Given the description of an element on the screen output the (x, y) to click on. 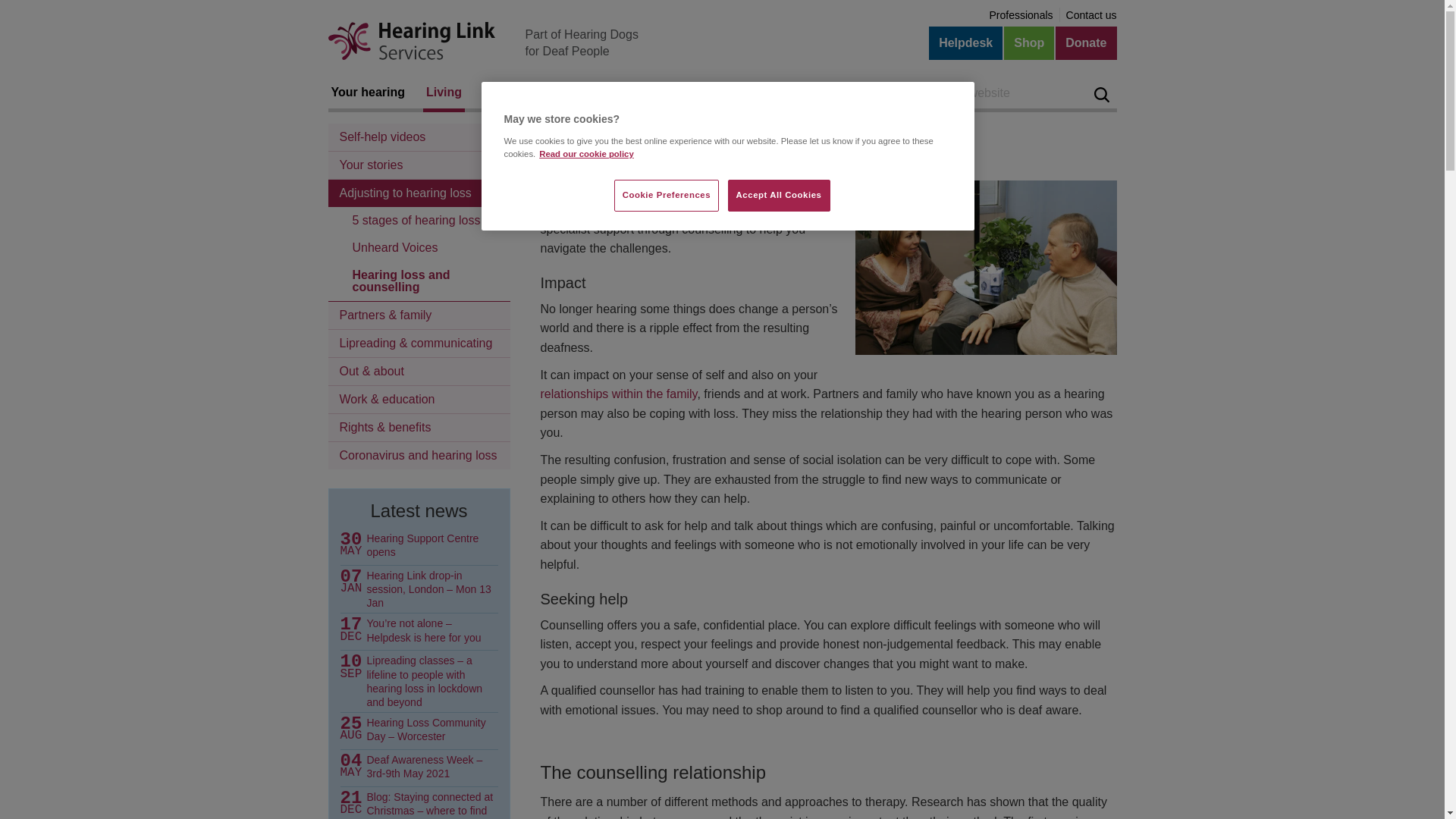
Living (443, 92)
Your hearing (367, 92)
Contact us (1090, 15)
Professionals (1021, 15)
Donate (1085, 42)
Shop (1029, 42)
Helpdesk (965, 42)
